Given the description of an element on the screen output the (x, y) to click on. 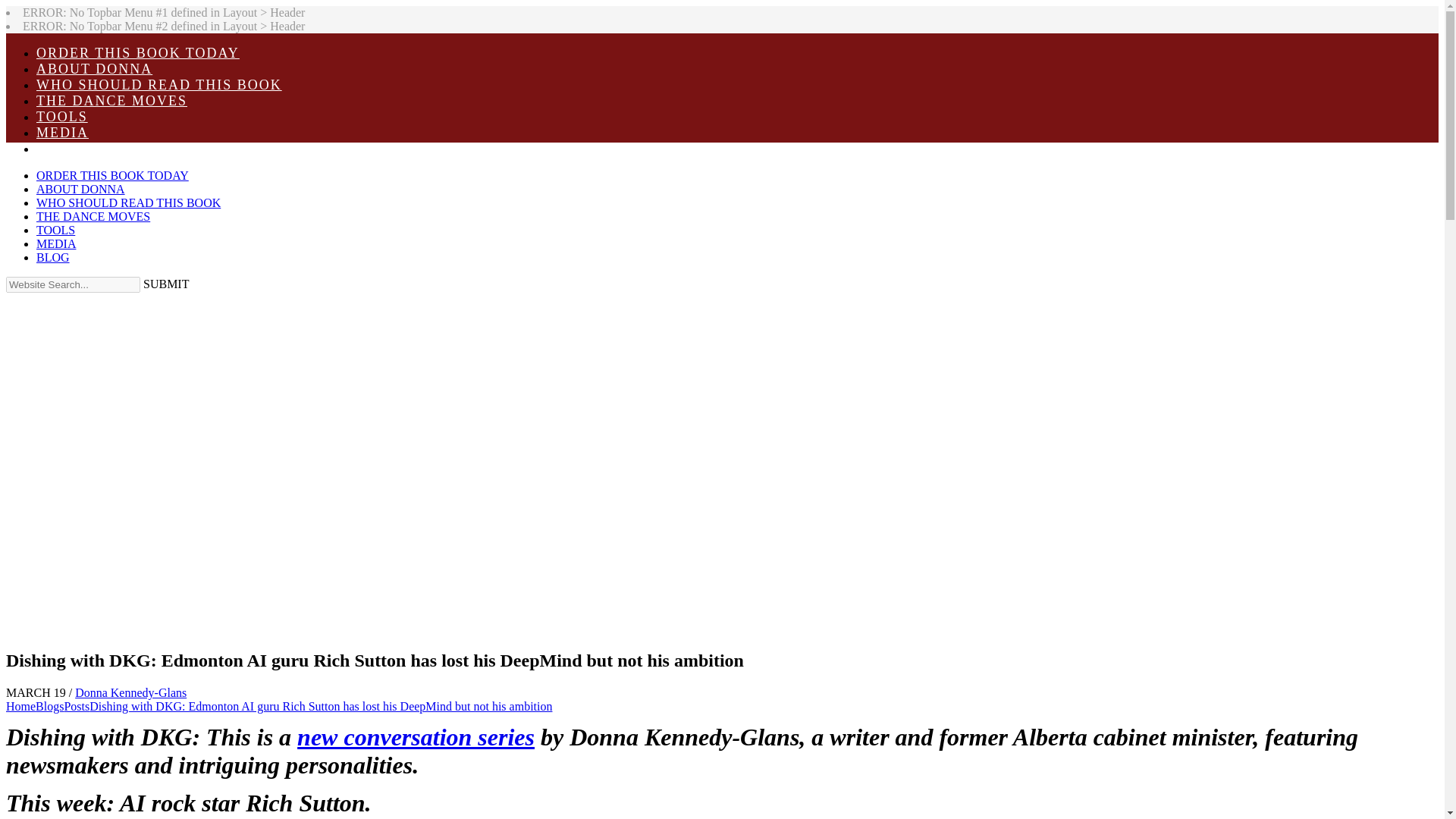
WHO SHOULD READ THIS BOOK (604, 84)
ABOUT DONNA (604, 68)
TOOLS (604, 116)
ORDER THIS BOOK TODAY (604, 53)
BLOG (604, 148)
Donna Kennedy-Glans (130, 692)
BLOG (604, 148)
ORDER THIS BOOK TODAY (604, 53)
TOOLS (604, 116)
MEDIA (604, 132)
THE DANCE MOVES (604, 100)
MEDIA (604, 132)
WHO SHOULD READ THIS BOOK (604, 84)
Posts (76, 706)
